Given the description of an element on the screen output the (x, y) to click on. 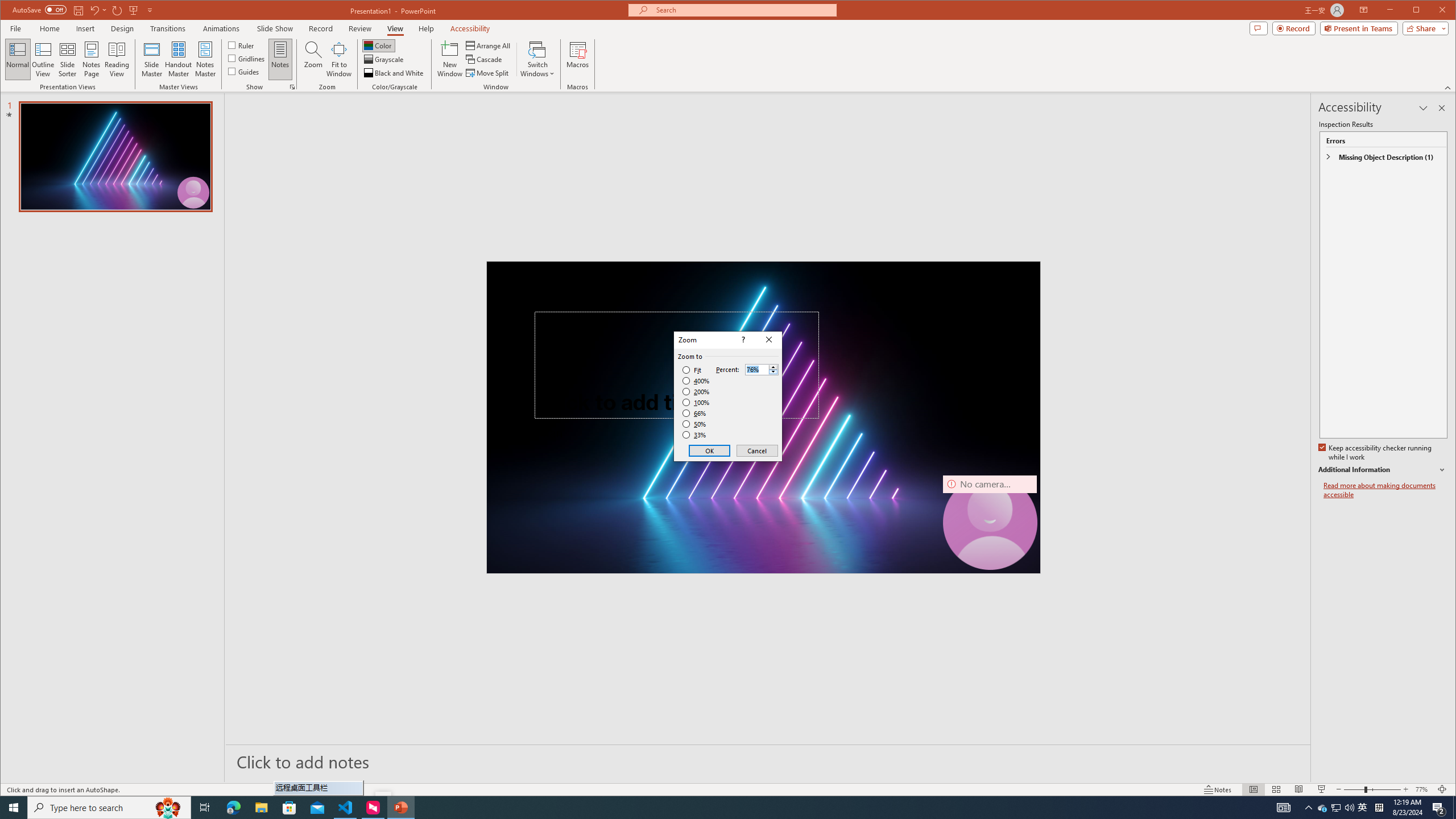
Notes (279, 59)
Zoom 77% (1422, 789)
Black and White (394, 72)
Ruler (241, 44)
Percent (761, 369)
